Given the description of an element on the screen output the (x, y) to click on. 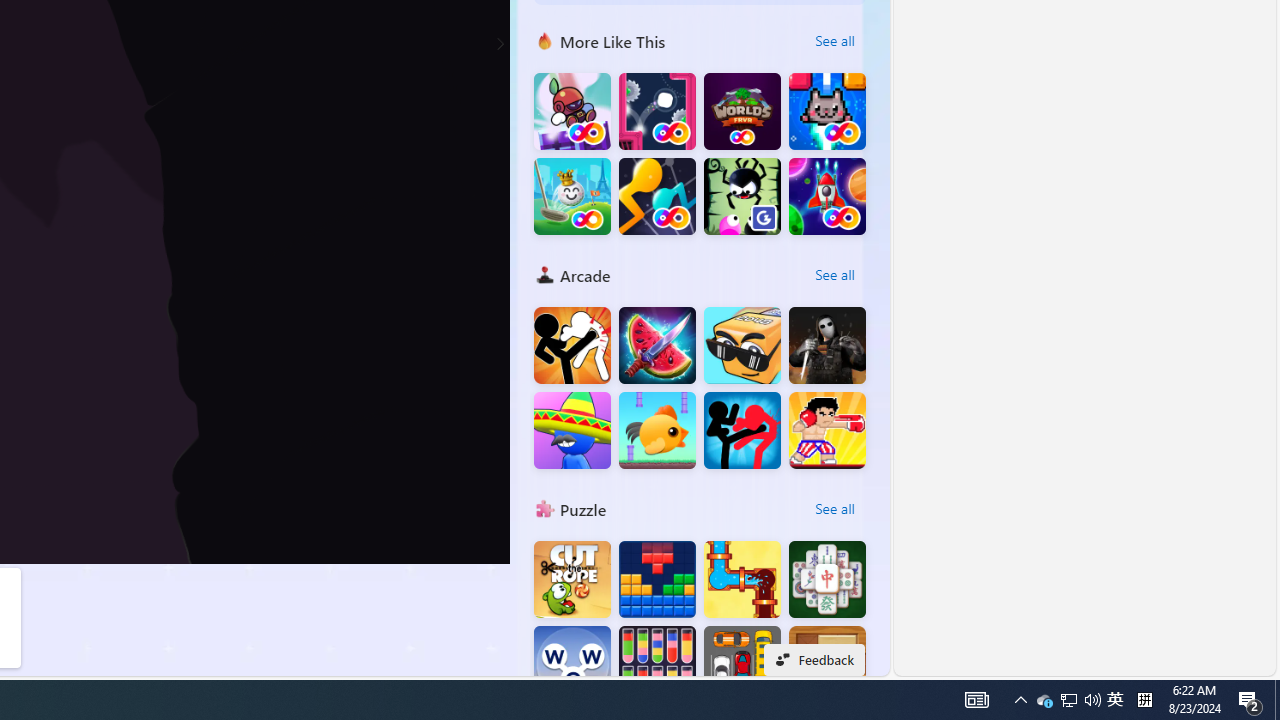
EXIT : unblock red wood block (827, 664)
Puzzle (544, 508)
